Given the description of an element on the screen output the (x, y) to click on. 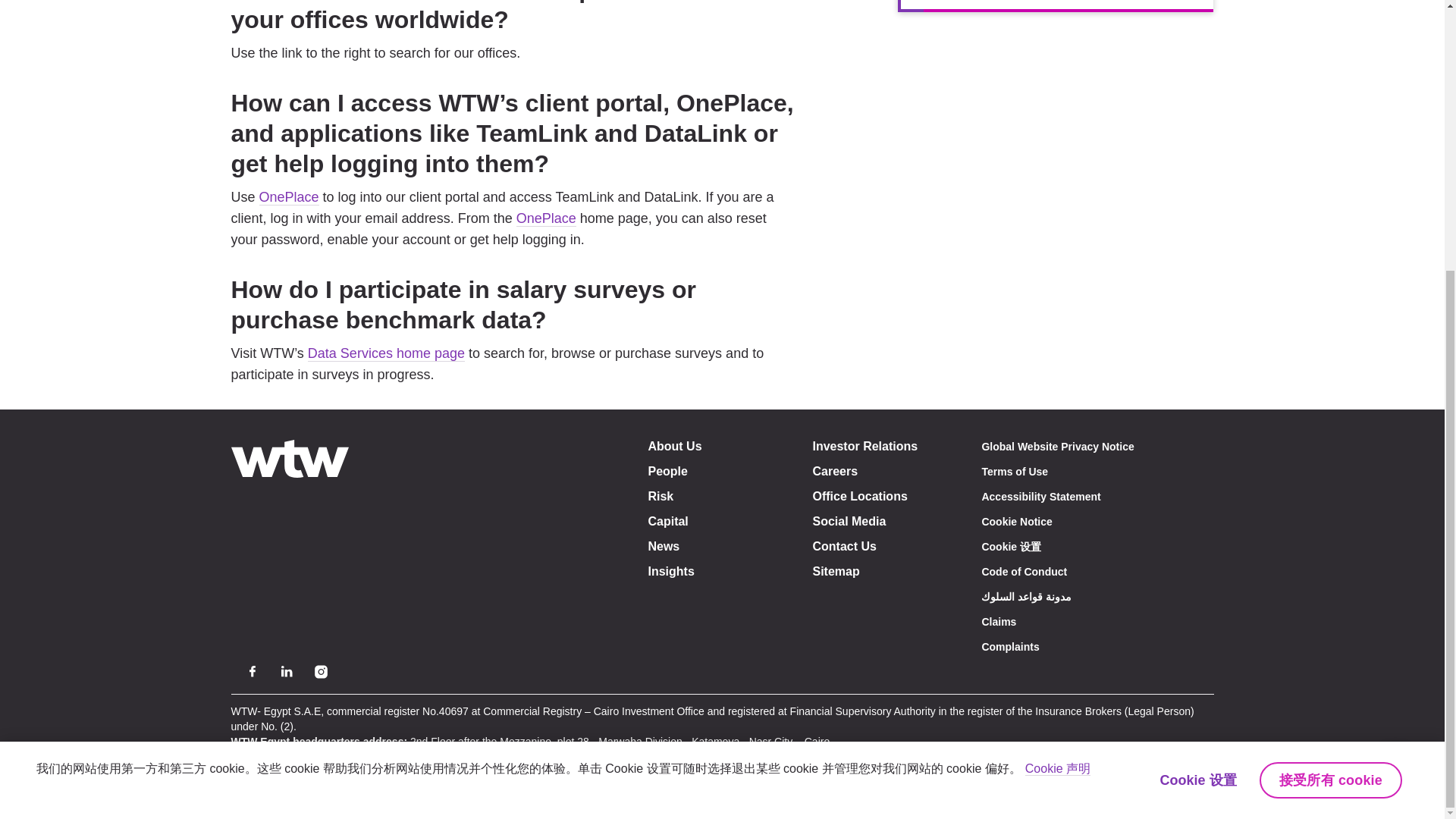
Facebook (252, 670)
Linkedin (287, 670)
Navigate to OnePlace (546, 218)
Navigate to OnePlace (288, 197)
Claims (998, 621)
navigate to Complaints page (1010, 646)
Instagram (320, 670)
Navigate to Data Services Home Page (385, 353)
